Given the description of an element on the screen output the (x, y) to click on. 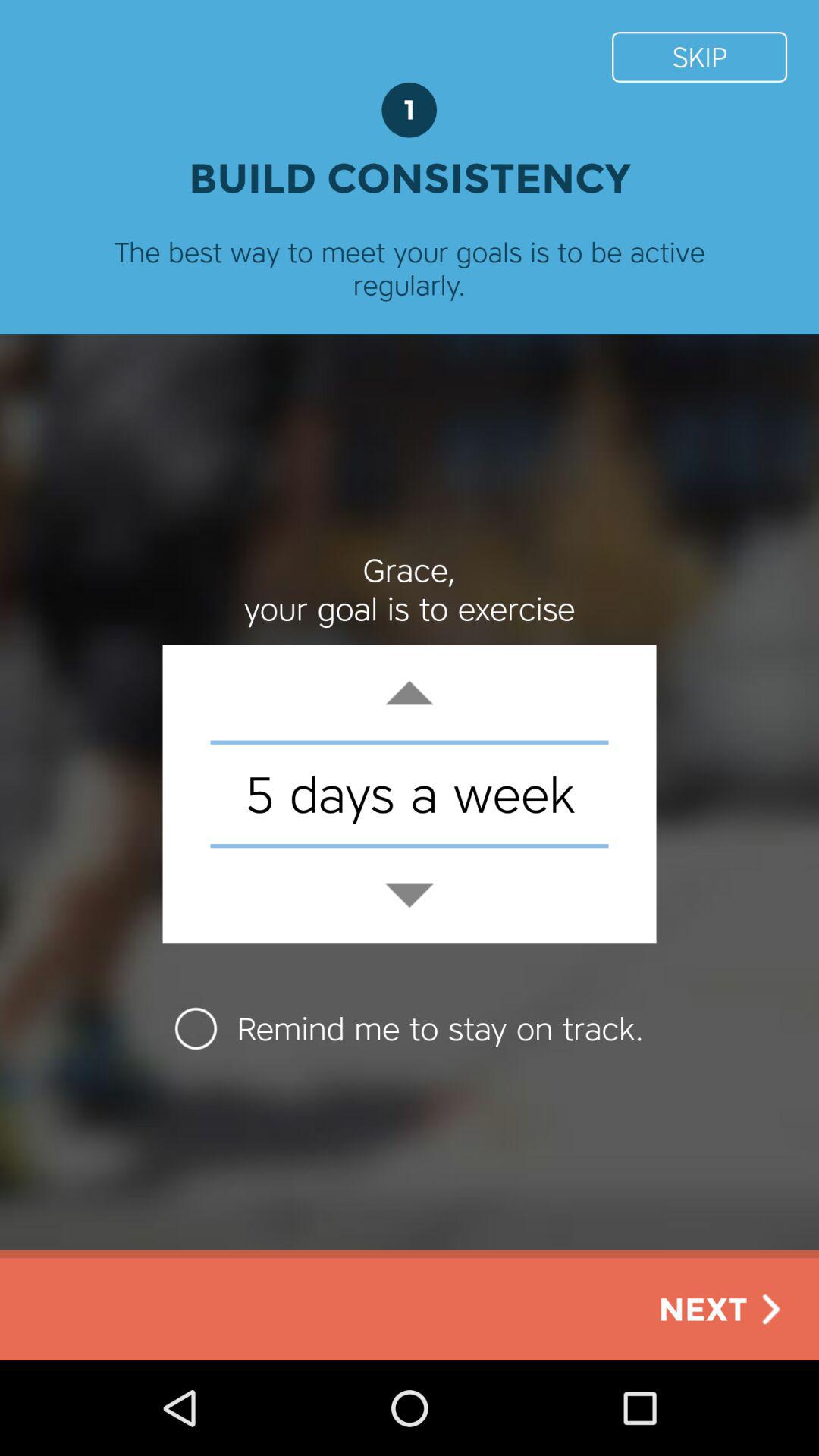
turn off the icon at the top right corner (699, 56)
